Given the description of an element on the screen output the (x, y) to click on. 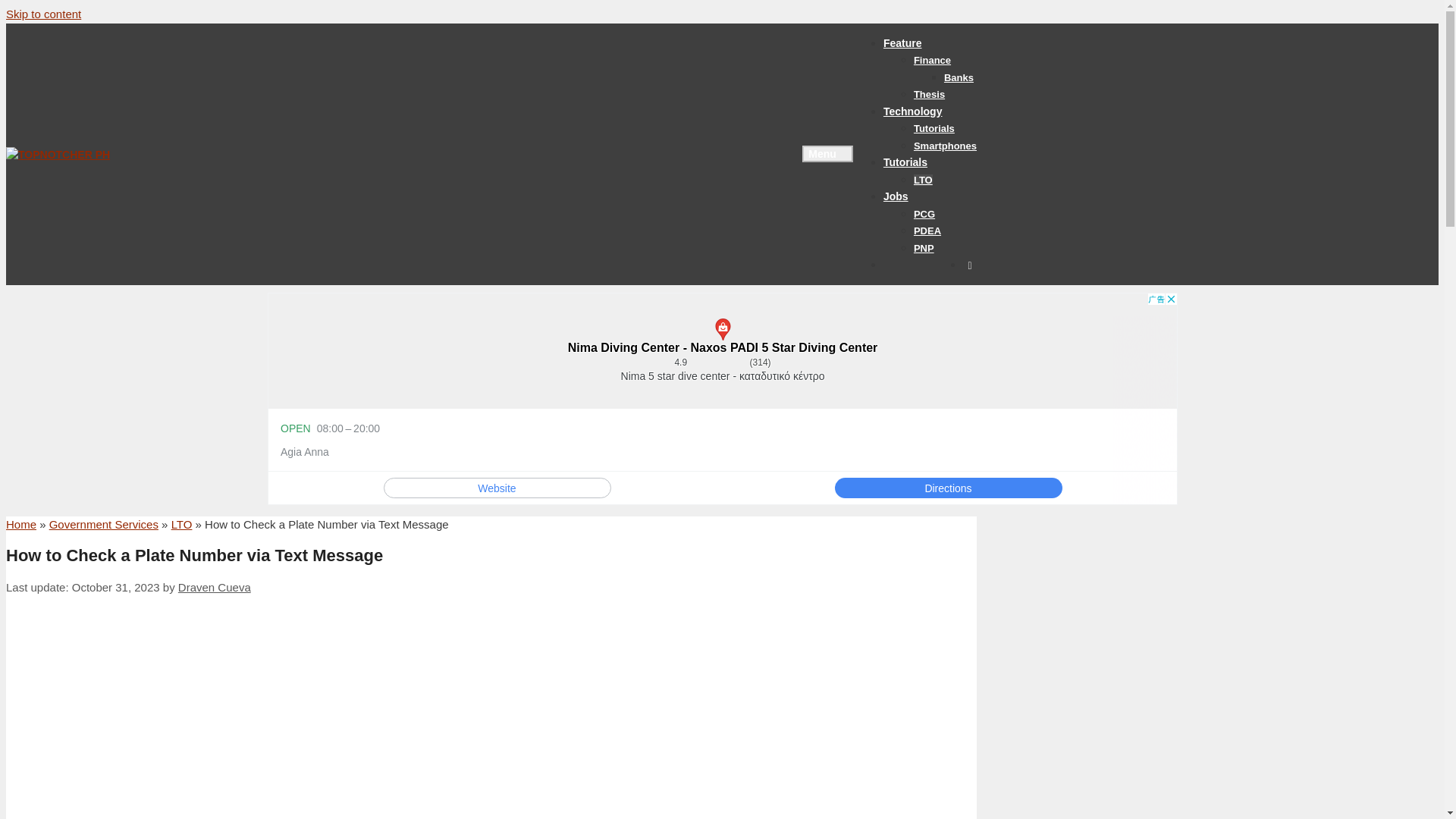
Skip to content (43, 13)
Thesis (929, 93)
Skip to content (43, 13)
Menu (827, 153)
PDEA (927, 230)
Jobs (895, 196)
TOPNOTCHER PH (100, 153)
Home (20, 522)
Feature (902, 42)
PCG (924, 213)
LTO (181, 522)
Tutorials (934, 128)
TOPNOTCHER PH (104, 153)
